Given the description of an element on the screen output the (x, y) to click on. 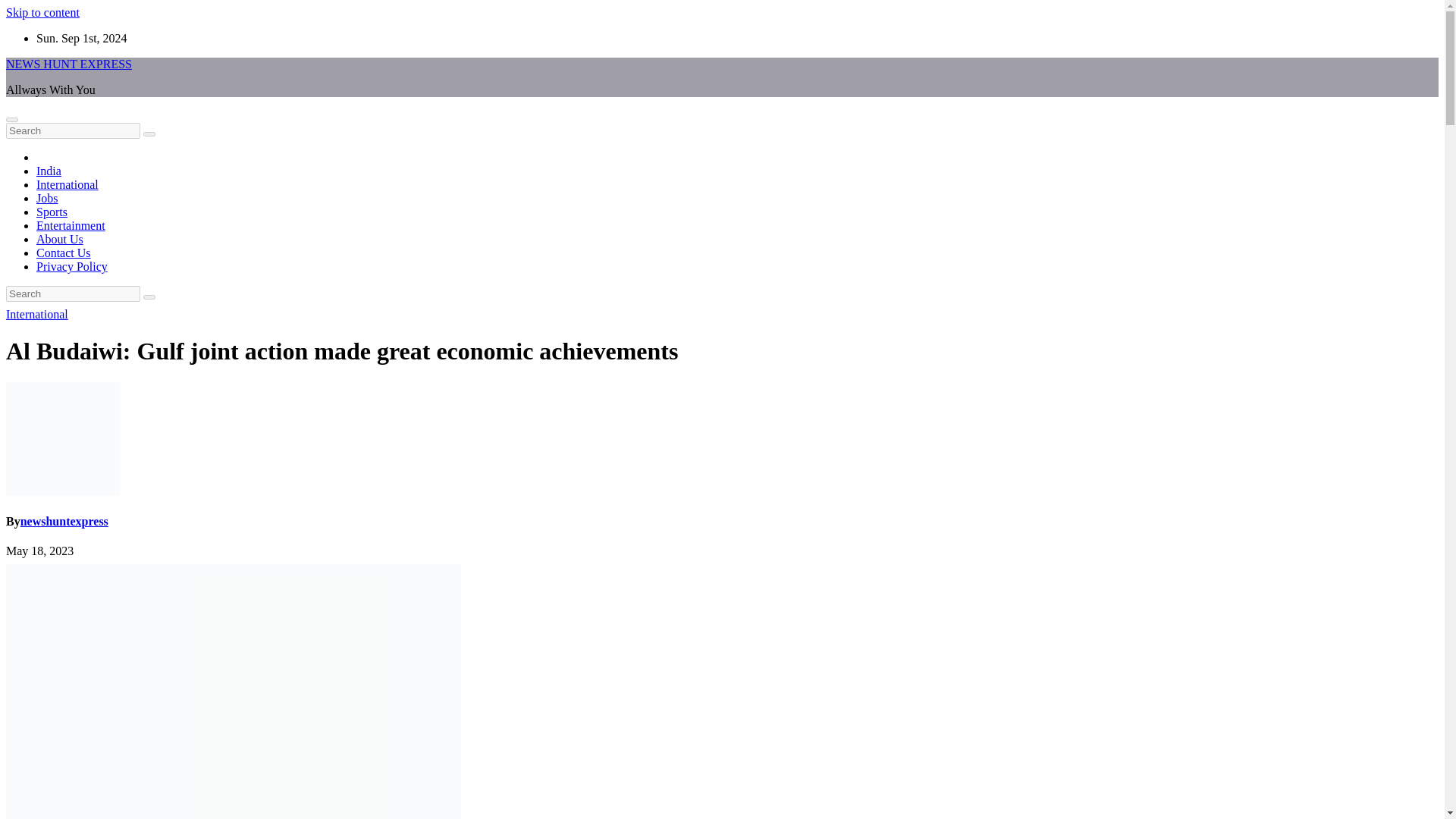
NEWS HUNT EXPRESS (68, 63)
India (48, 170)
Sports (51, 211)
newshuntexpress (63, 521)
Privacy Policy (71, 266)
Sports (51, 211)
International (67, 184)
International (67, 184)
Jobs (47, 197)
